Given the description of an element on the screen output the (x, y) to click on. 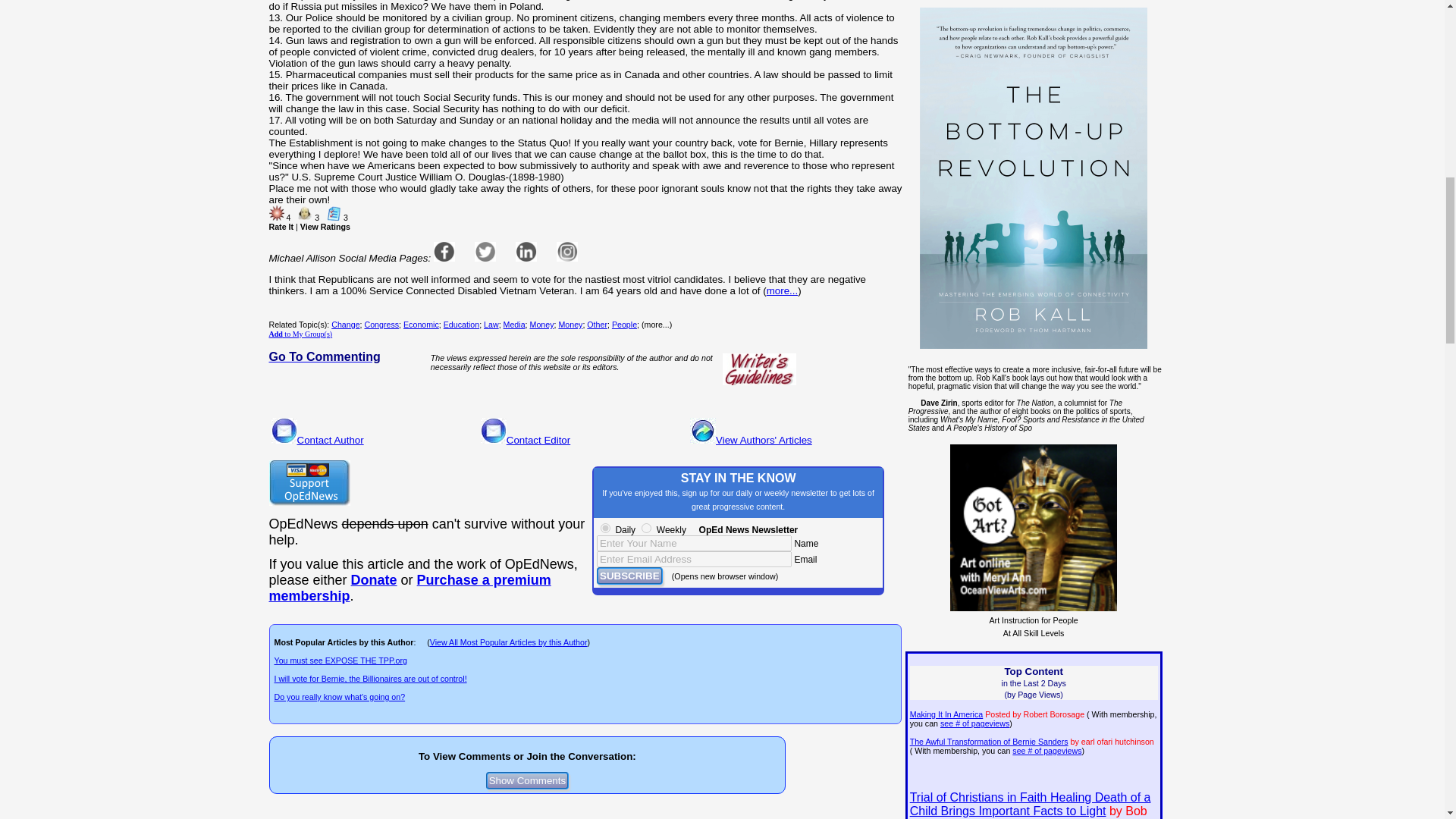
Facebook page url on login Profile not filled in (443, 251)
Law (491, 324)
Media (514, 324)
Must Read (275, 212)
more... (782, 290)
Enter Your Name (694, 543)
Congress (381, 324)
Education (461, 324)
Well Said (305, 212)
SUBSCRIBE (629, 575)
-- (373, 580)
Twitter page url on login Profile not filled in (485, 251)
Economic (421, 324)
Supported (333, 212)
Support OpEdNews (308, 482)
